Given the description of an element on the screen output the (x, y) to click on. 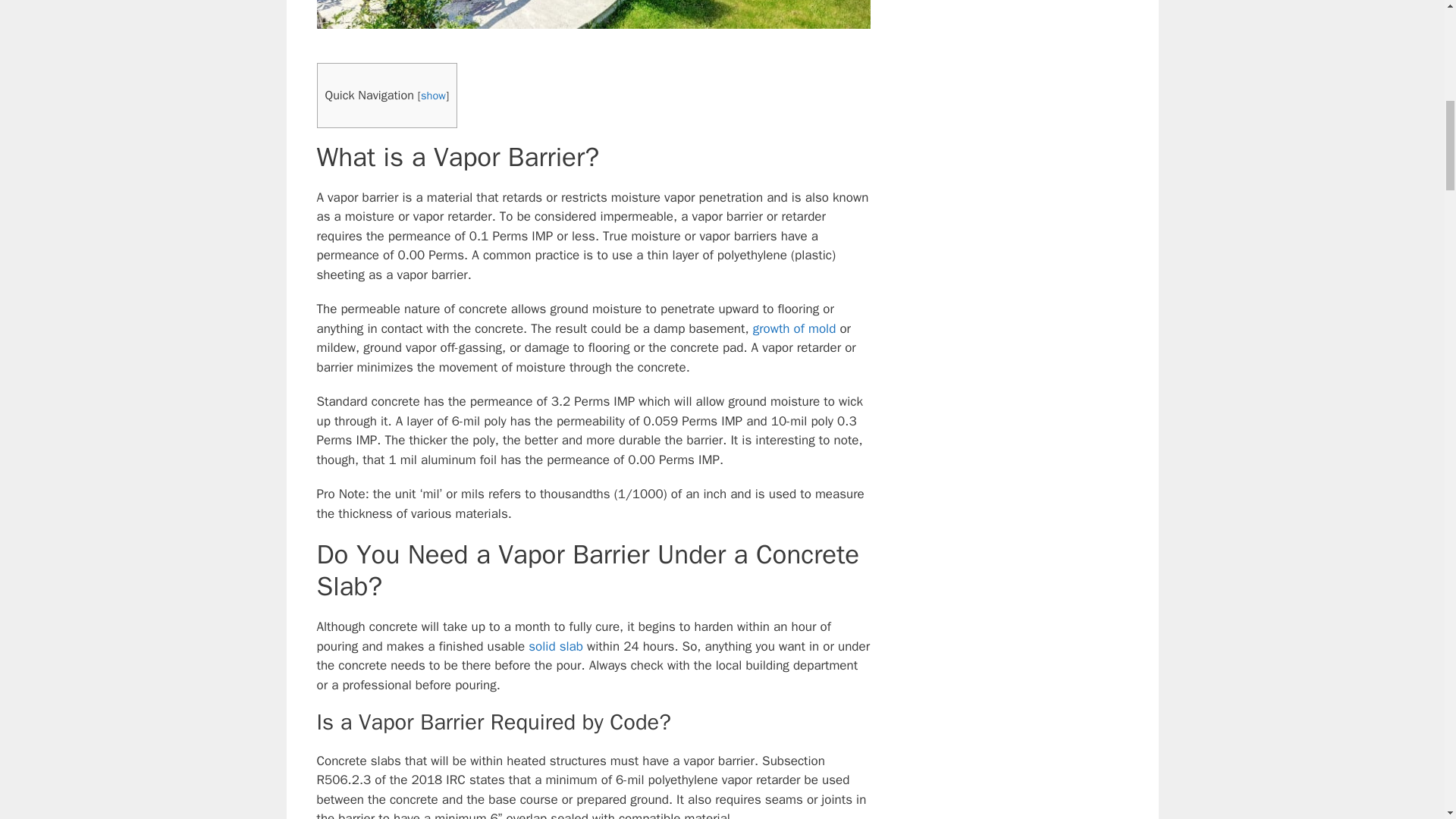
show (432, 95)
growth of mold (793, 328)
solid slab (555, 646)
